Given the description of an element on the screen output the (x, y) to click on. 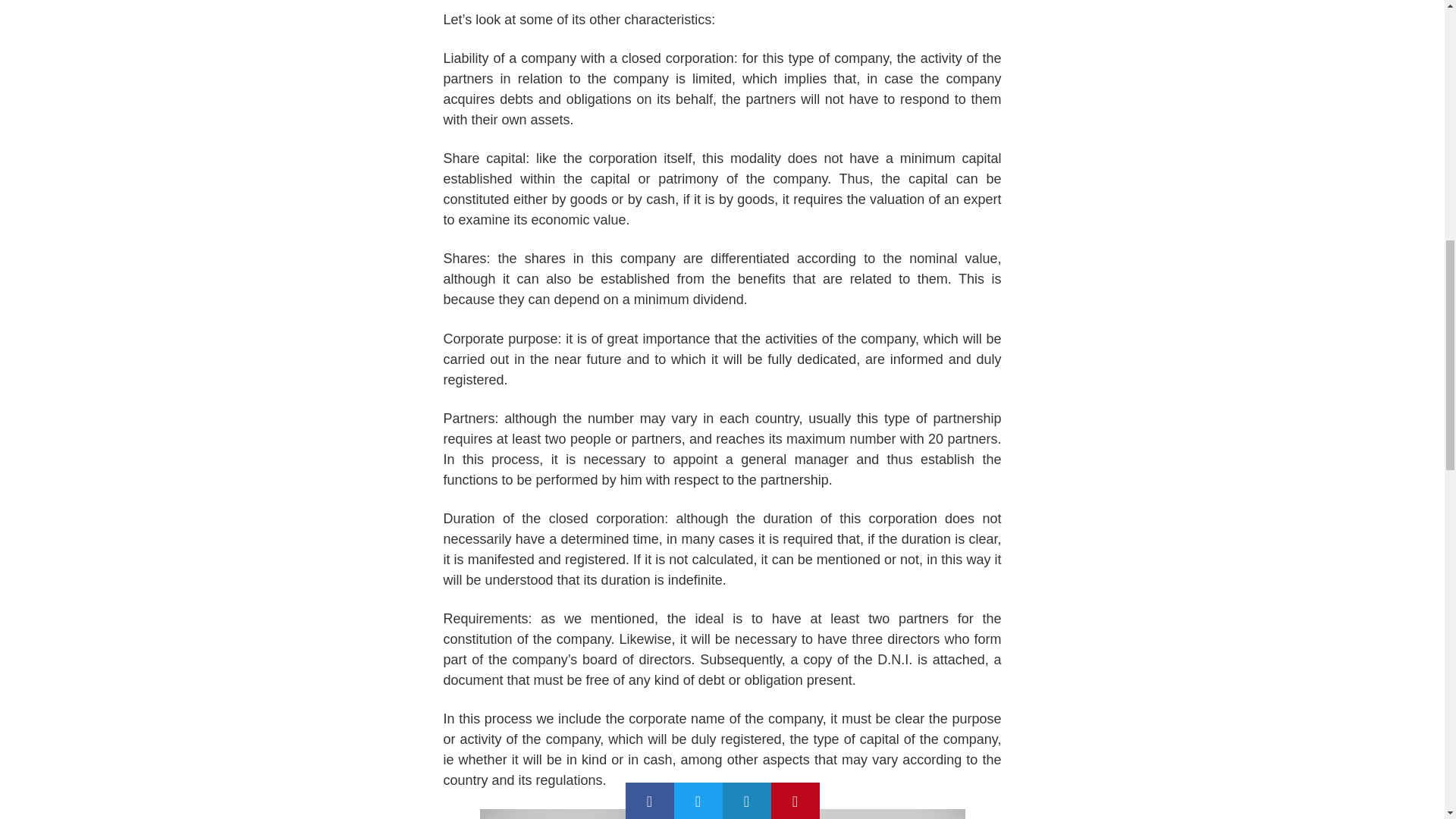
closed stock company (721, 814)
